Given the description of an element on the screen output the (x, y) to click on. 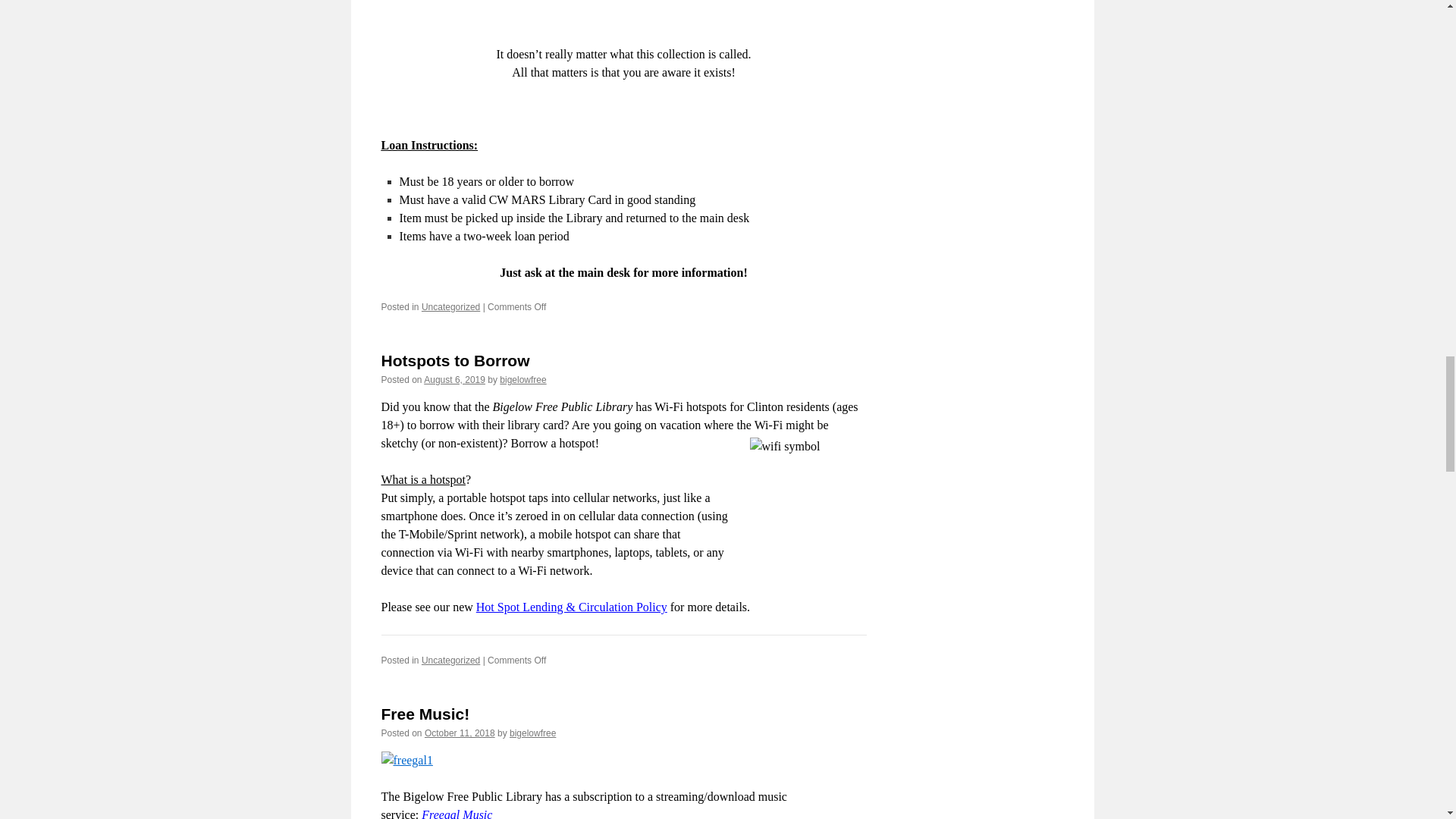
10:49 am (453, 379)
View all posts by bigelowfree (522, 379)
View all posts by bigelowfree (532, 733)
12:10 pm (460, 733)
